Given the description of an element on the screen output the (x, y) to click on. 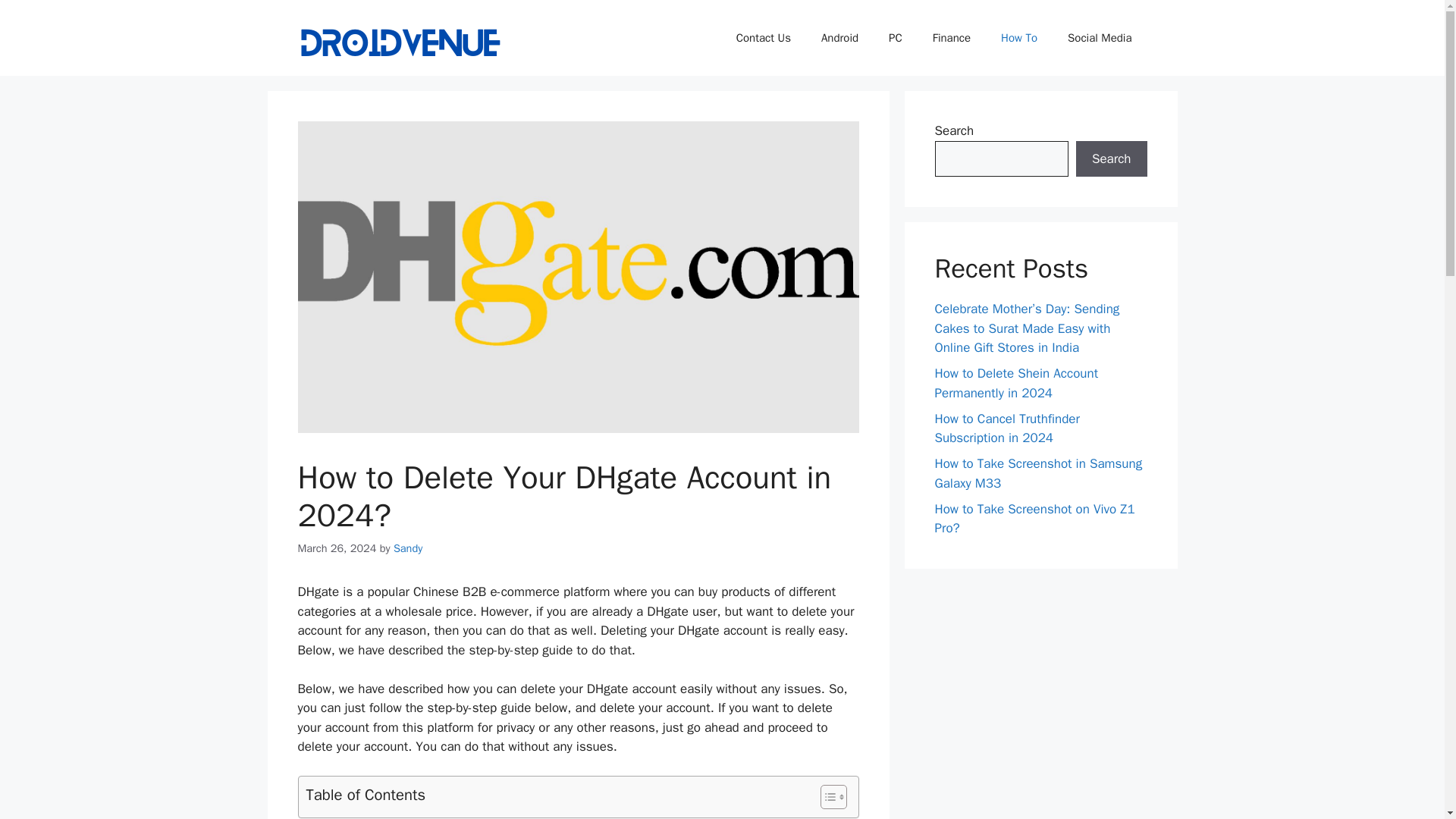
Finance (951, 37)
Sandy (407, 548)
Search (1111, 158)
How To (1018, 37)
Android (839, 37)
View all posts by Sandy (407, 548)
Social Media (1099, 37)
PC (895, 37)
How to Delete Shein Account Permanently in 2024 (1015, 383)
Contact Us (763, 37)
